Given the description of an element on the screen output the (x, y) to click on. 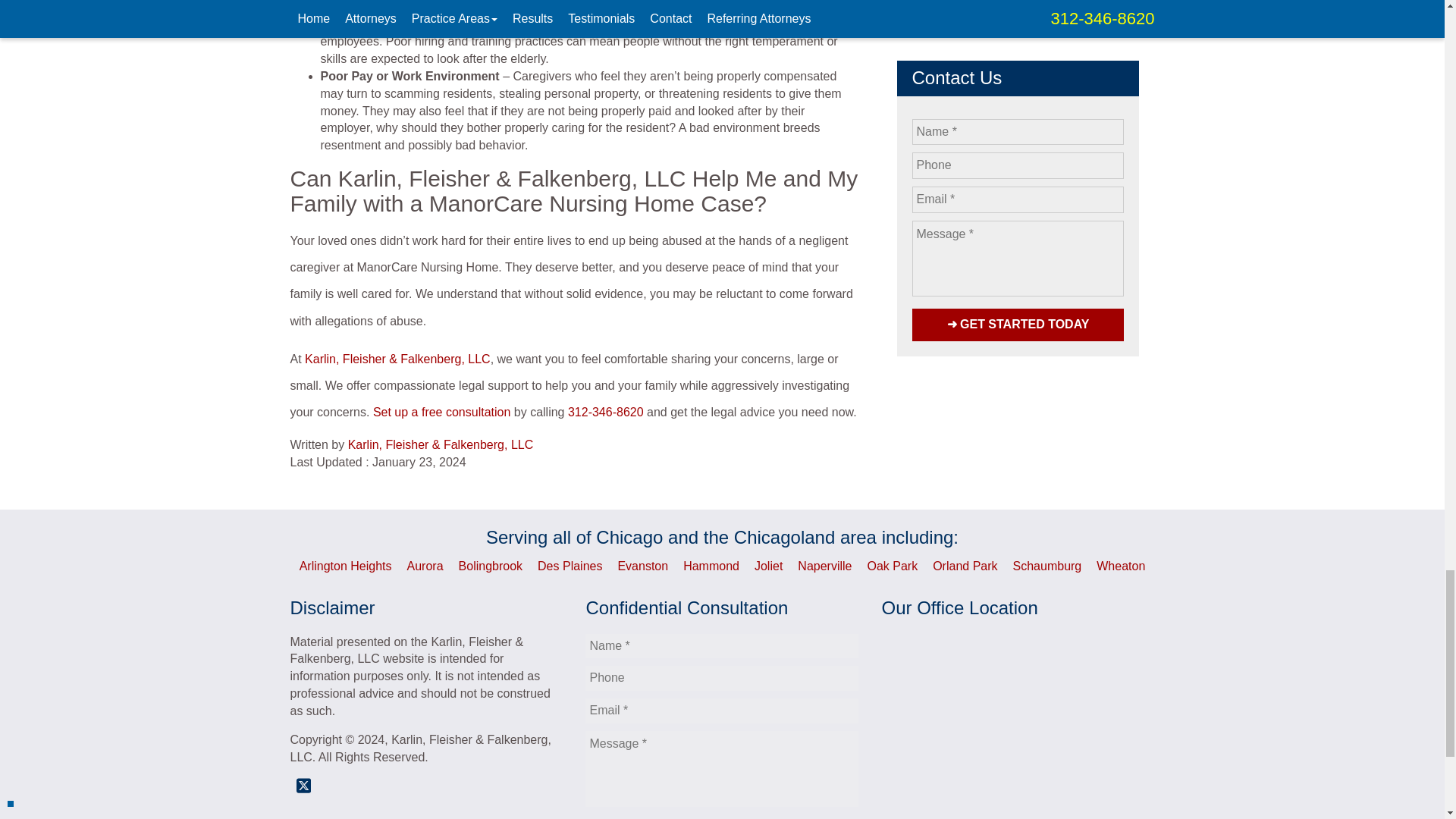
Office Location (1017, 724)
